Given the description of an element on the screen output the (x, y) to click on. 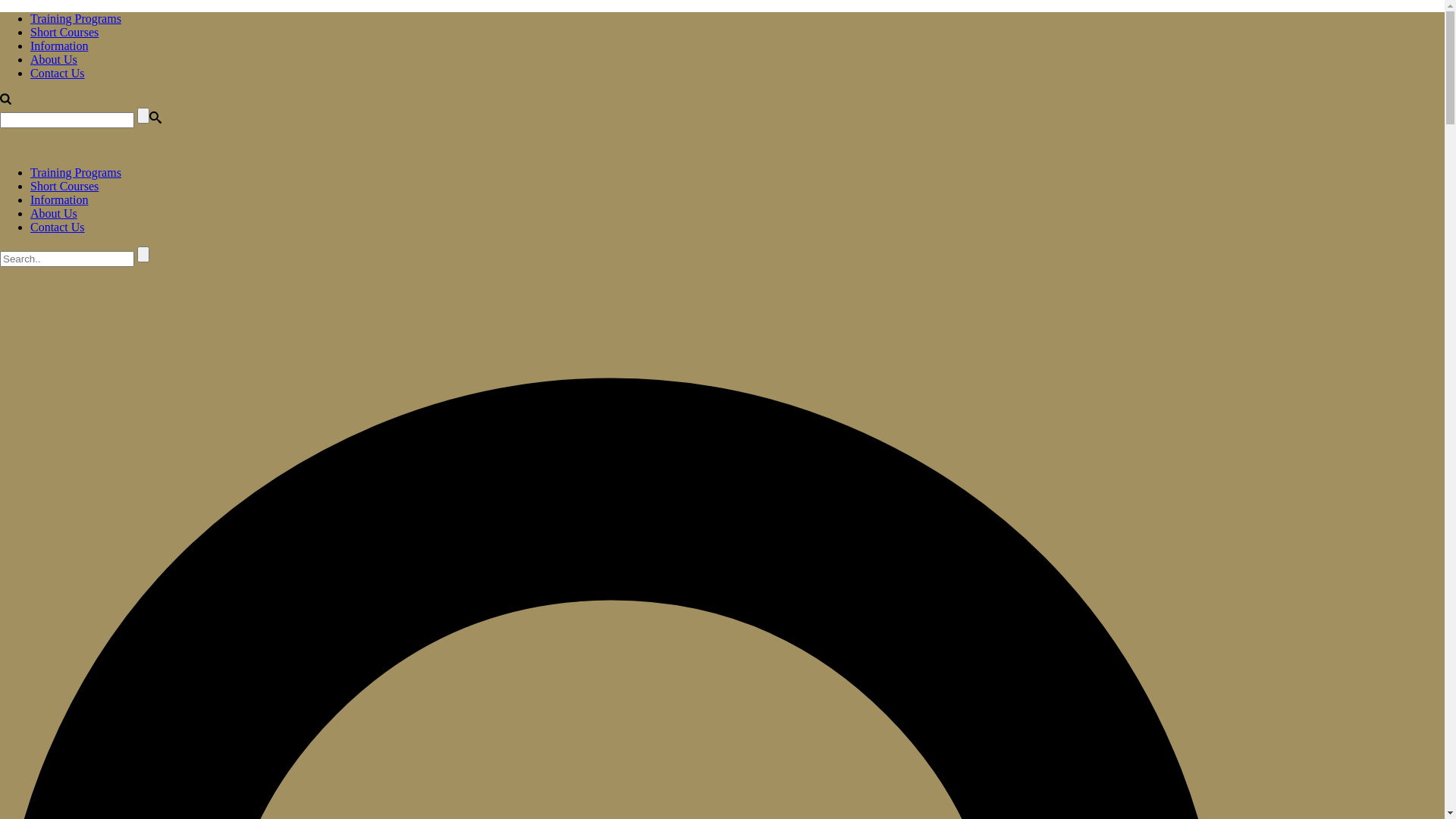
Information Element type: text (58, 45)
About Us Element type: text (53, 59)
Information Element type: text (58, 199)
Short Courses Element type: text (64, 31)
About Us Element type: text (53, 213)
Training Programs Element type: text (75, 18)
Training Programs Element type: text (75, 172)
Short Courses Element type: text (64, 185)
Contact Us Element type: text (57, 226)
Contact Us Element type: text (57, 72)
